Given the description of an element on the screen output the (x, y) to click on. 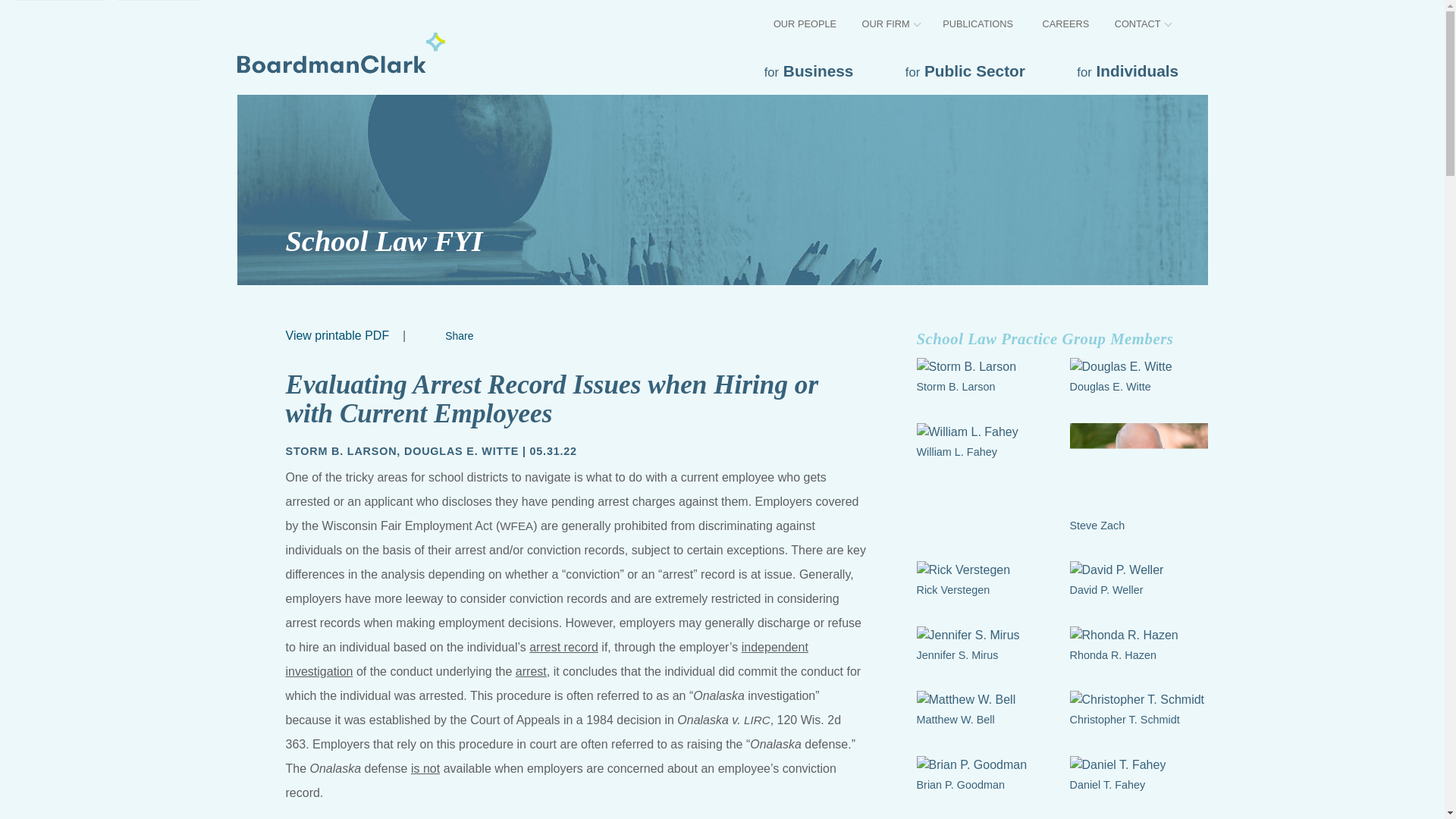
Boardman Clark Law Firm (340, 52)
for Business (817, 71)
for Individuals (1135, 71)
for Public Sector (973, 71)
LinkedIn (449, 335)
author.title (340, 451)
author.title (461, 451)
search (1192, 21)
